Given the description of an element on the screen output the (x, y) to click on. 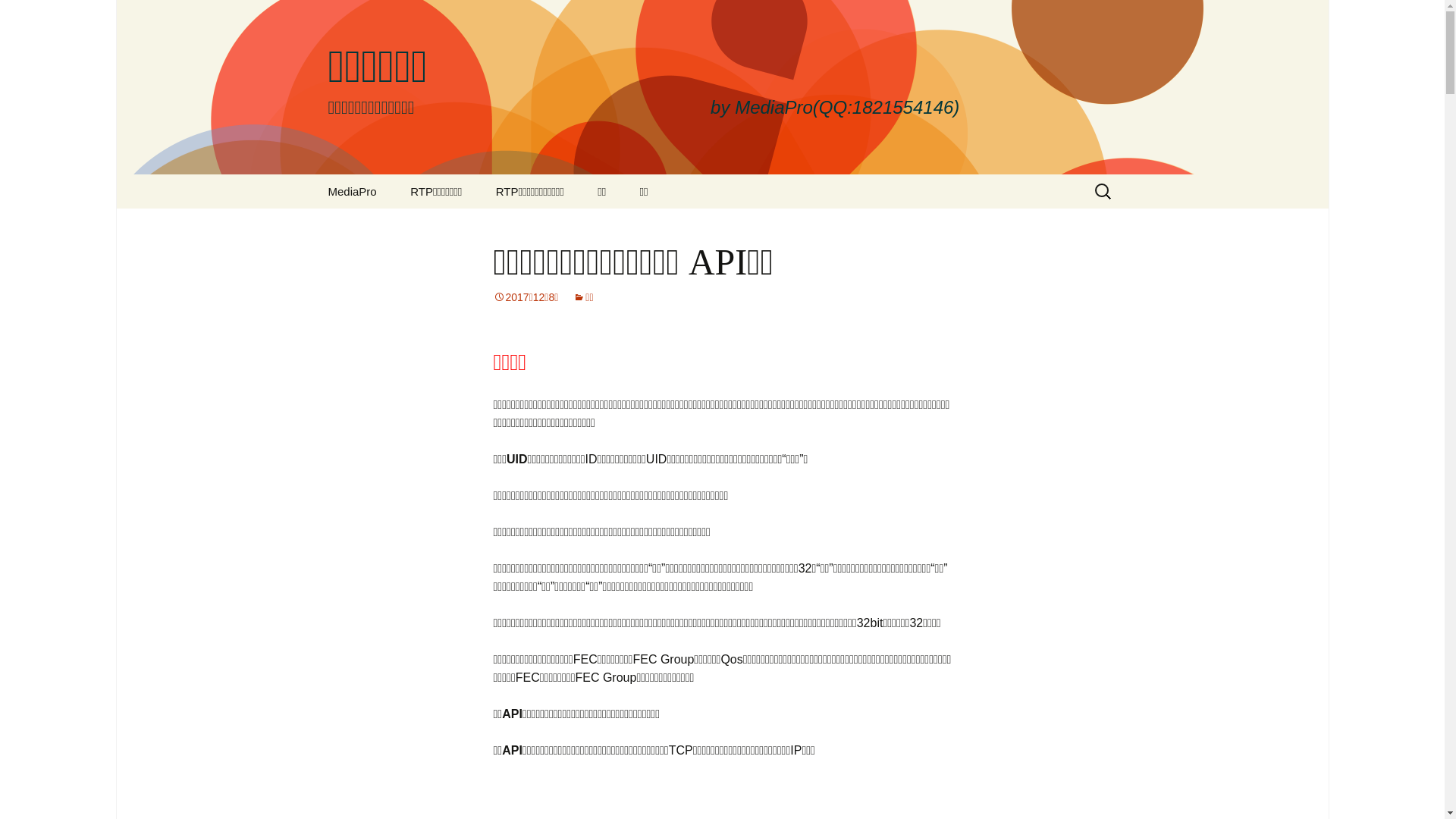
MediaPro Element type: text (351, 191)
